Given the description of an element on the screen output the (x, y) to click on. 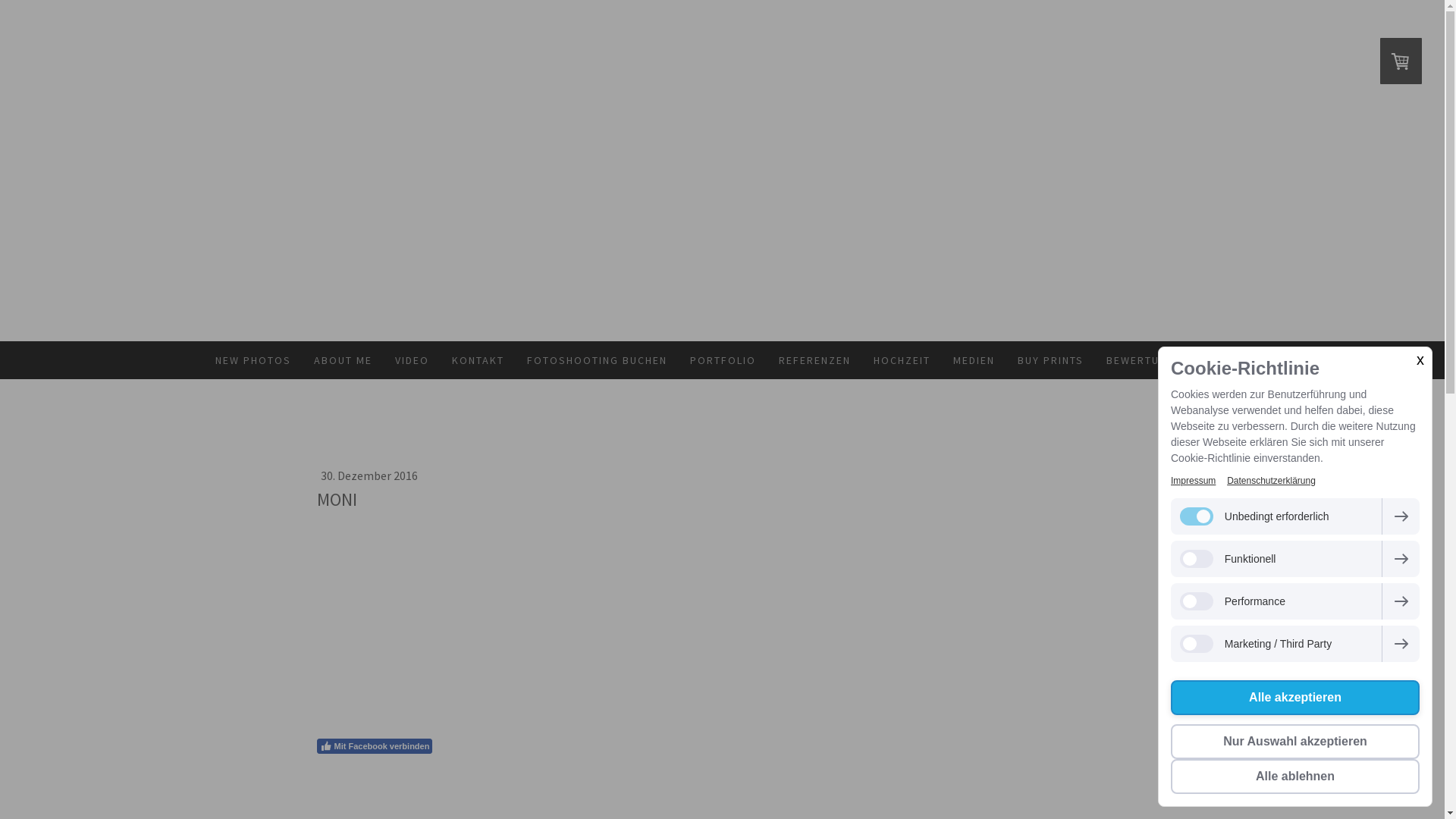
FOTOSHOOTING BUCHEN Element type: text (596, 360)
VIDEO Element type: text (411, 360)
Mit Facebook verbinden Element type: text (374, 745)
Alle akzeptieren Element type: text (1294, 697)
BEWERTUNG Element type: text (1140, 360)
Nur Auswahl akzeptieren Element type: text (1294, 741)
SHOP Element type: text (1213, 360)
KONTAKT Element type: text (476, 360)
Impressum Element type: text (1192, 480)
MEDIEN Element type: text (973, 360)
NEW PHOTOS Element type: text (252, 360)
Advertisement Element type: hover (722, 624)
ABOUT ME Element type: text (341, 360)
Alle ablehnen Element type: text (1294, 776)
PORTFOLIO Element type: text (721, 360)
BUY PRINTS Element type: text (1049, 360)
HOCHZEIT Element type: text (901, 360)
REFERENZEN Element type: text (814, 360)
